Given the description of an element on the screen output the (x, y) to click on. 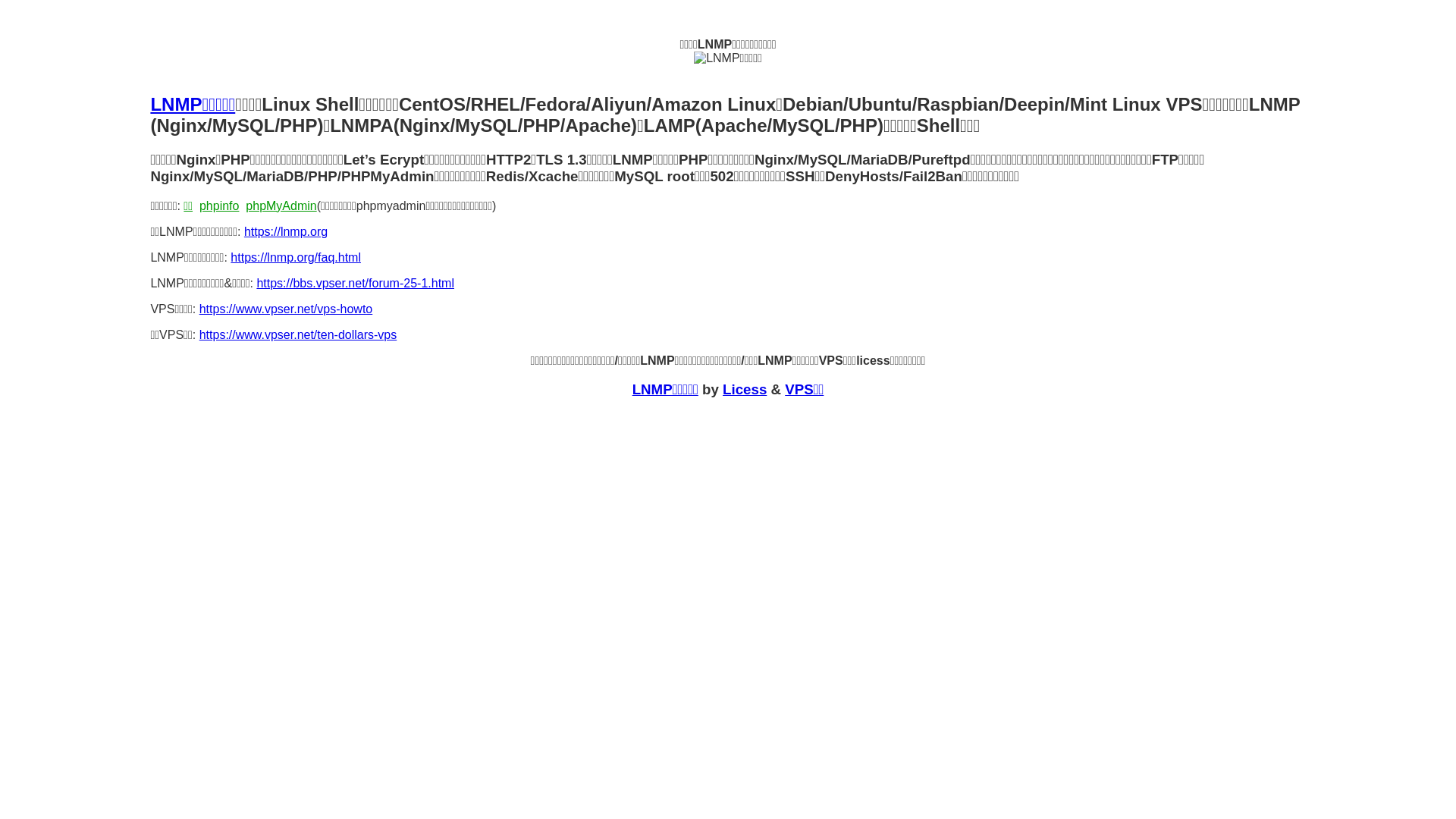
phpMyAdmin Element type: text (280, 205)
phpinfo Element type: text (219, 205)
https://www.vpser.net/ten-dollars-vps Element type: text (298, 334)
https://bbs.vpser.net/forum-25-1.html Element type: text (355, 282)
https://www.vpser.net/vps-howto Element type: text (286, 308)
https://lnmp.org Element type: text (285, 231)
https://lnmp.org/faq.html Element type: text (295, 257)
Licess Element type: text (744, 389)
